Given the description of an element on the screen output the (x, y) to click on. 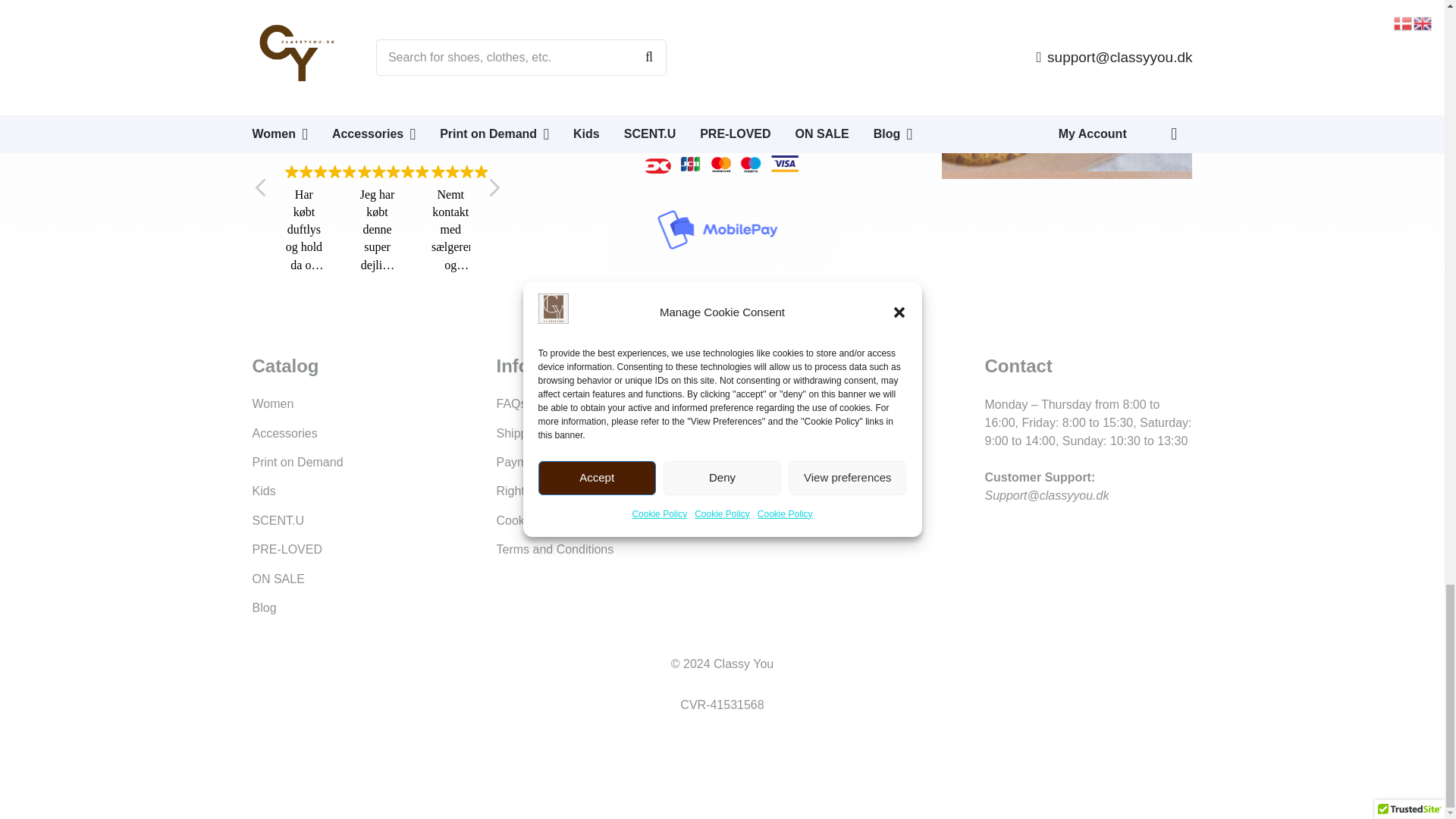
Premium Kids Crewneck Autism Slogan T-shirt (376, 22)
